Given the description of an element on the screen output the (x, y) to click on. 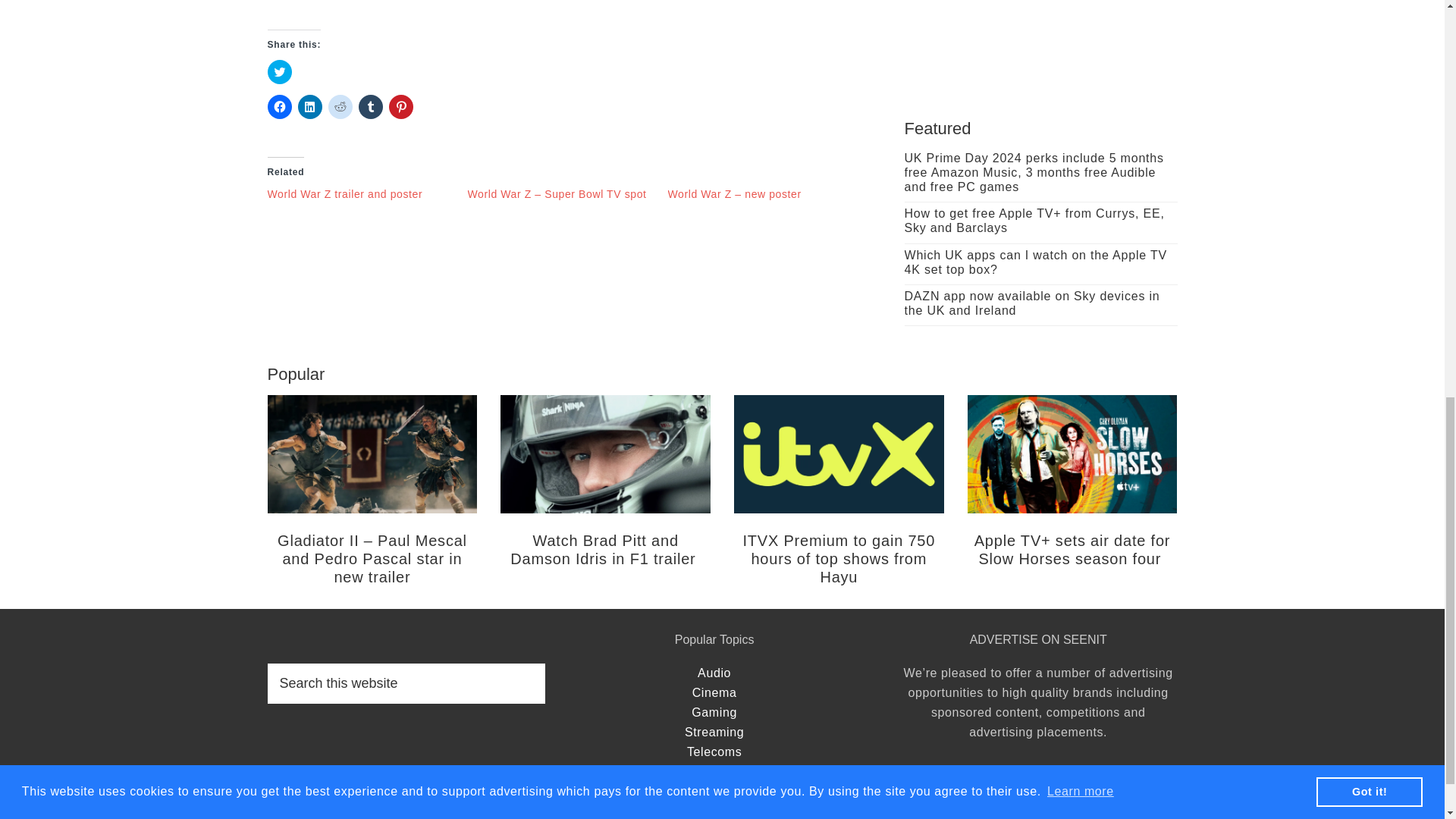
Audio (713, 672)
Cinema (714, 692)
ITVX Premium to gain 750 hours of top shows from Hayu (838, 558)
Click to share on Pinterest (400, 106)
Watch Brad Pitt and Damson Idris in F1 trailer  (605, 549)
Click to share on Twitter (278, 71)
DAZN app now available on Sky devices in the UK and Ireland (1031, 302)
Which UK apps can I watch on the Apple TV 4K set top box?  (1035, 262)
Click to share on LinkedIn (309, 106)
Advertisement (1040, 37)
Click to share on Tumblr (369, 106)
Gaming (713, 712)
Click to share on Reddit (339, 106)
